Given the description of an element on the screen output the (x, y) to click on. 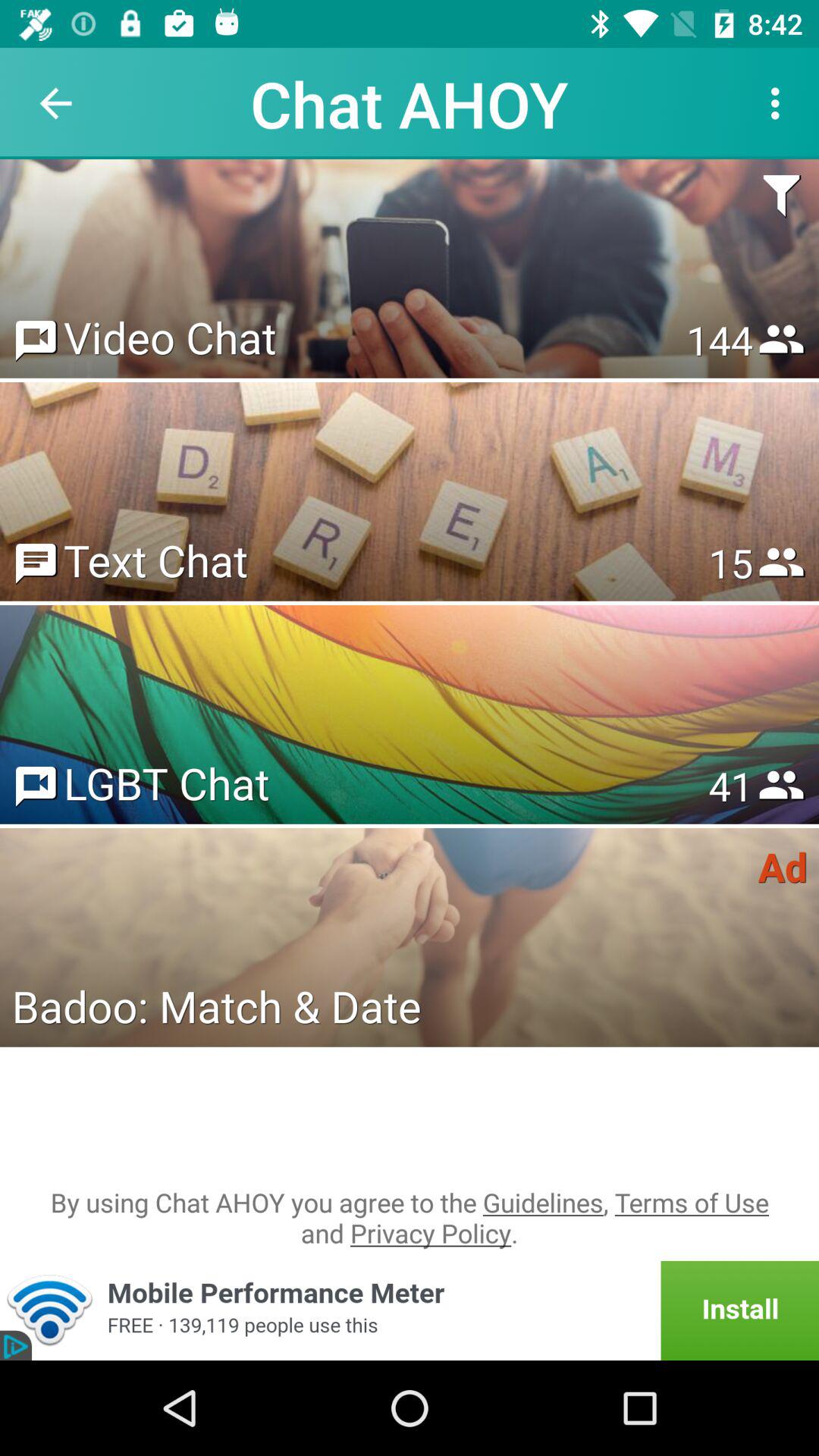
turn off text chat item (155, 559)
